Given the description of an element on the screen output the (x, y) to click on. 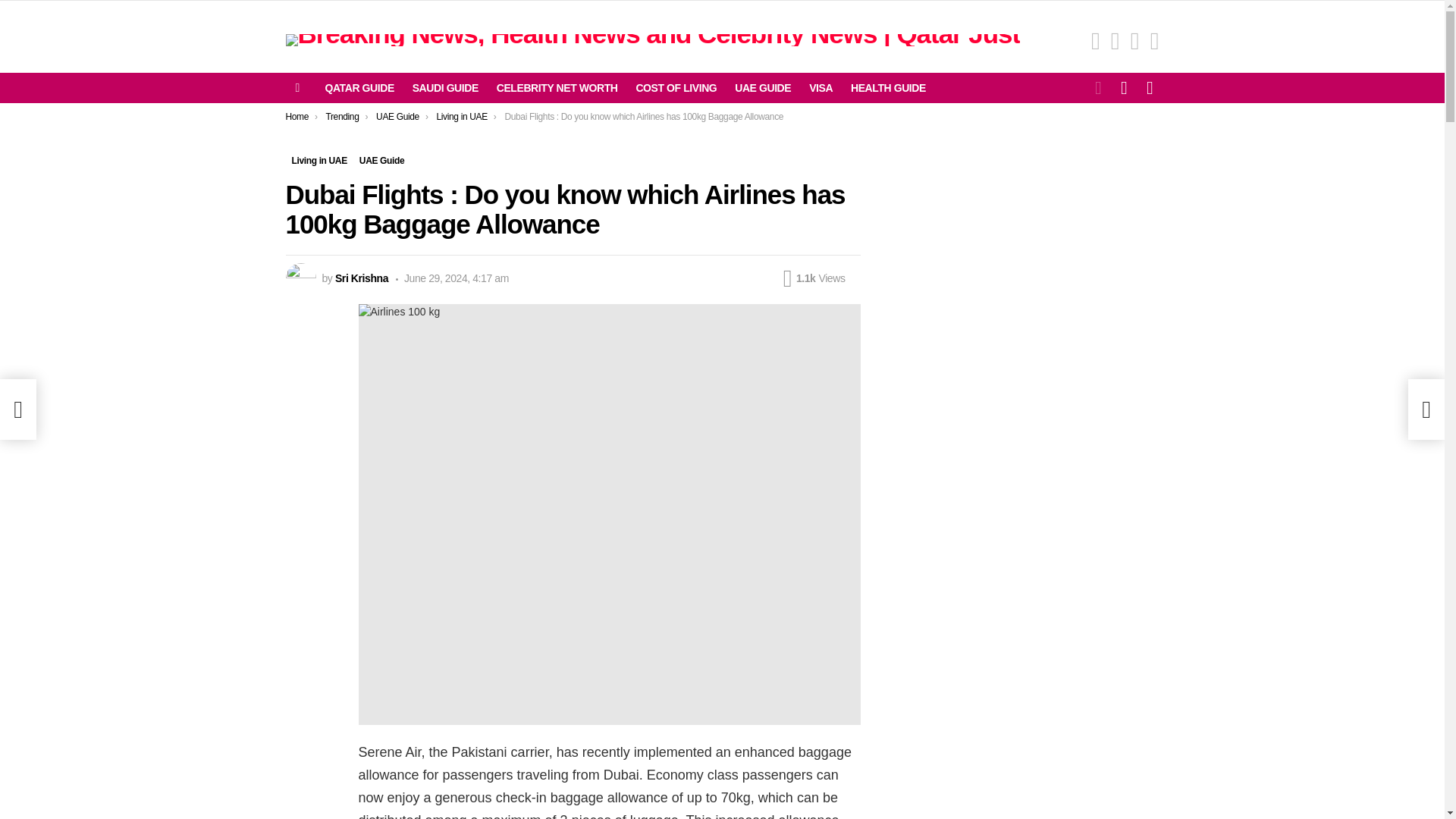
Living in UAE (460, 116)
Trending (341, 116)
Posts by Sri Krishna (361, 277)
Menu (296, 87)
UAE GUIDE (761, 87)
Living in UAE (318, 160)
VISA (821, 87)
UAE Guide (397, 116)
Home (296, 116)
SAUDI GUIDE (445, 87)
